Given the description of an element on the screen output the (x, y) to click on. 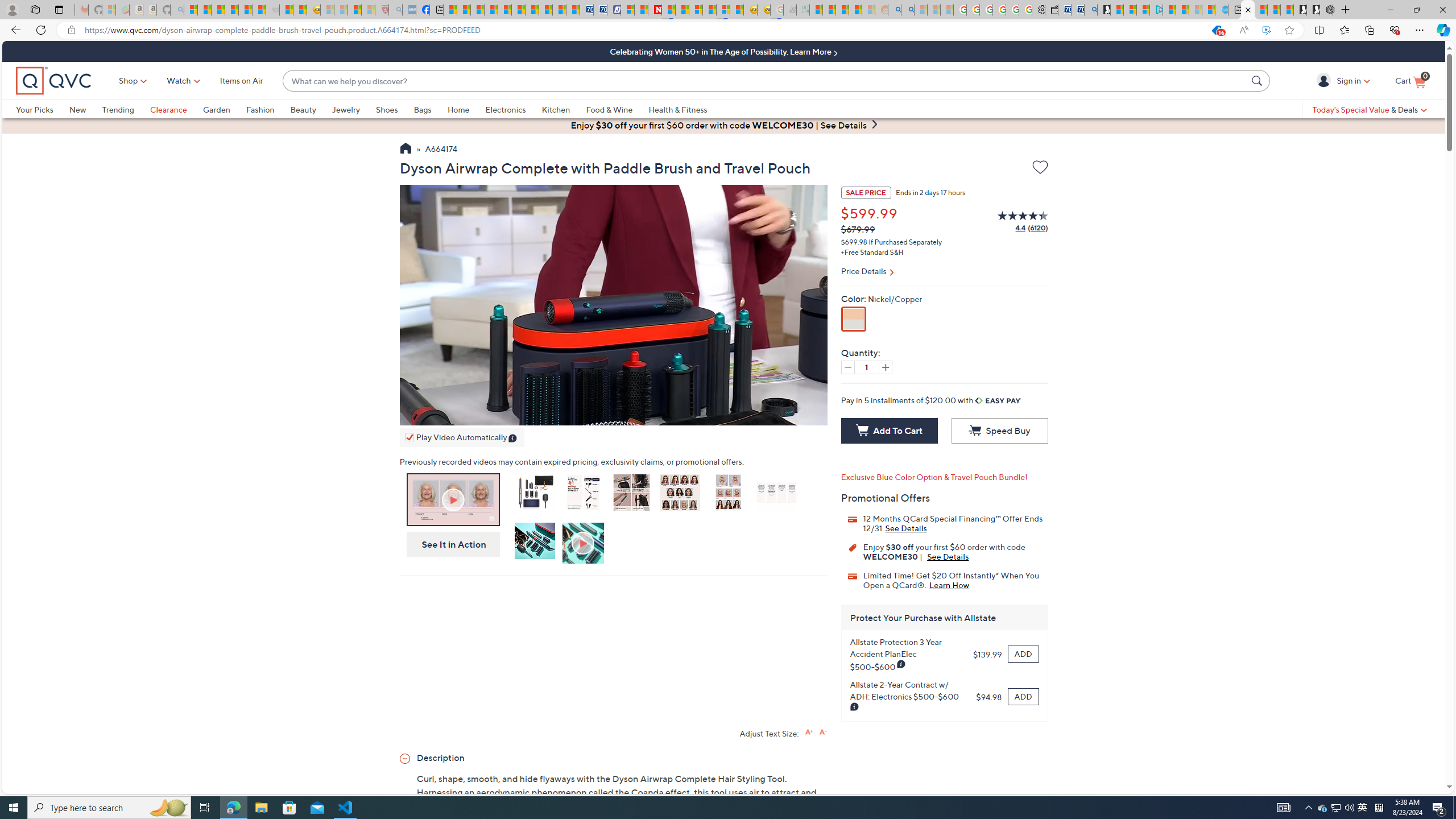
Decrease font size (822, 731)
You have the best price! (1216, 29)
Food & Wine (609, 109)
Kitchen (555, 109)
World - MSN (477, 9)
Your Picks (34, 109)
